Given the description of an element on the screen output the (x, y) to click on. 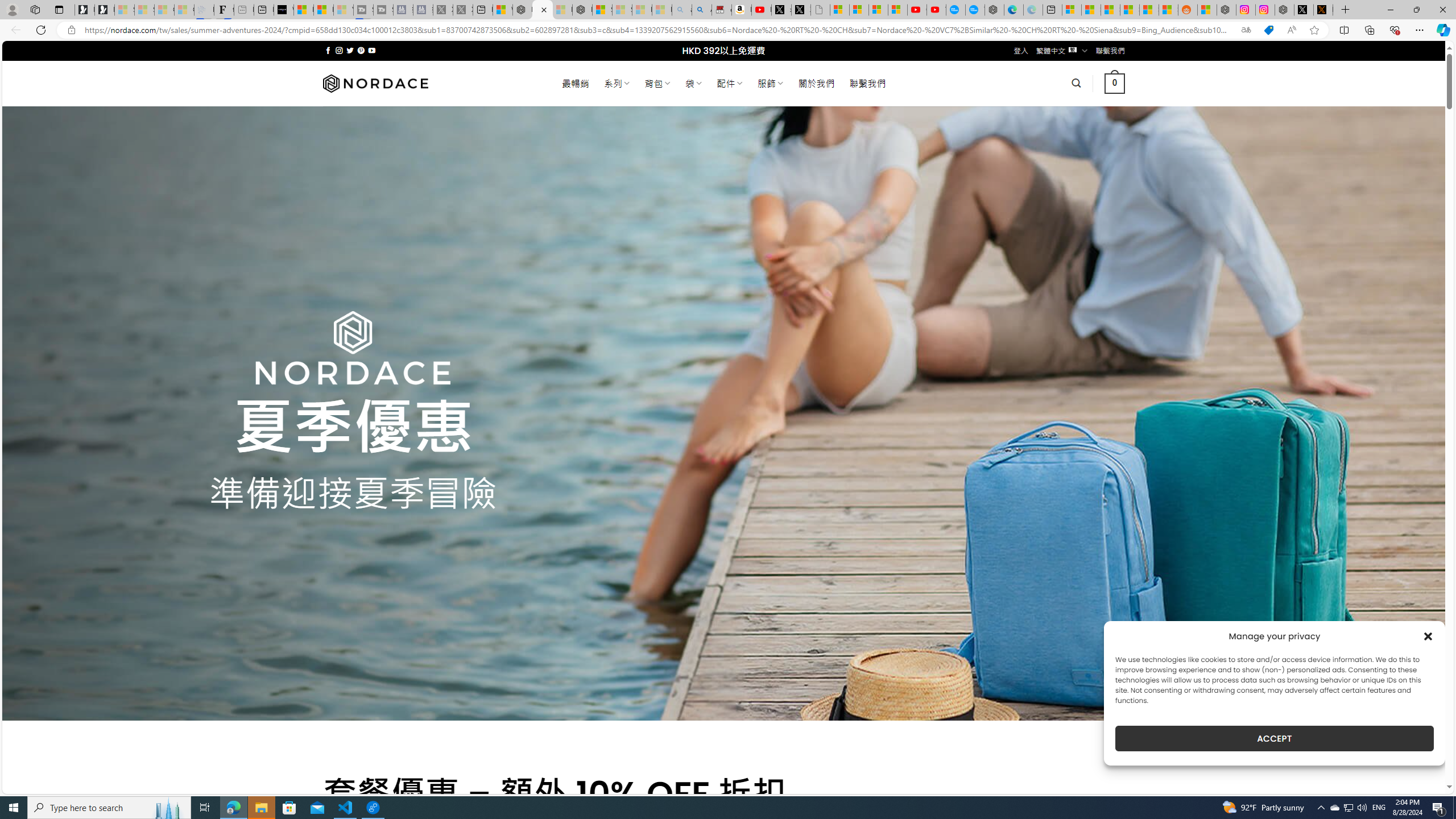
App bar (728, 29)
Class: cmplz-close (1428, 636)
Follow on YouTube (371, 50)
The most popular Google 'how to' searches (975, 9)
Nordace - Nordace Siena Is Not An Ordinary Backpack (581, 9)
Microsoft Start (322, 9)
Show translate options (1245, 29)
X (800, 9)
